Given the description of an element on the screen output the (x, y) to click on. 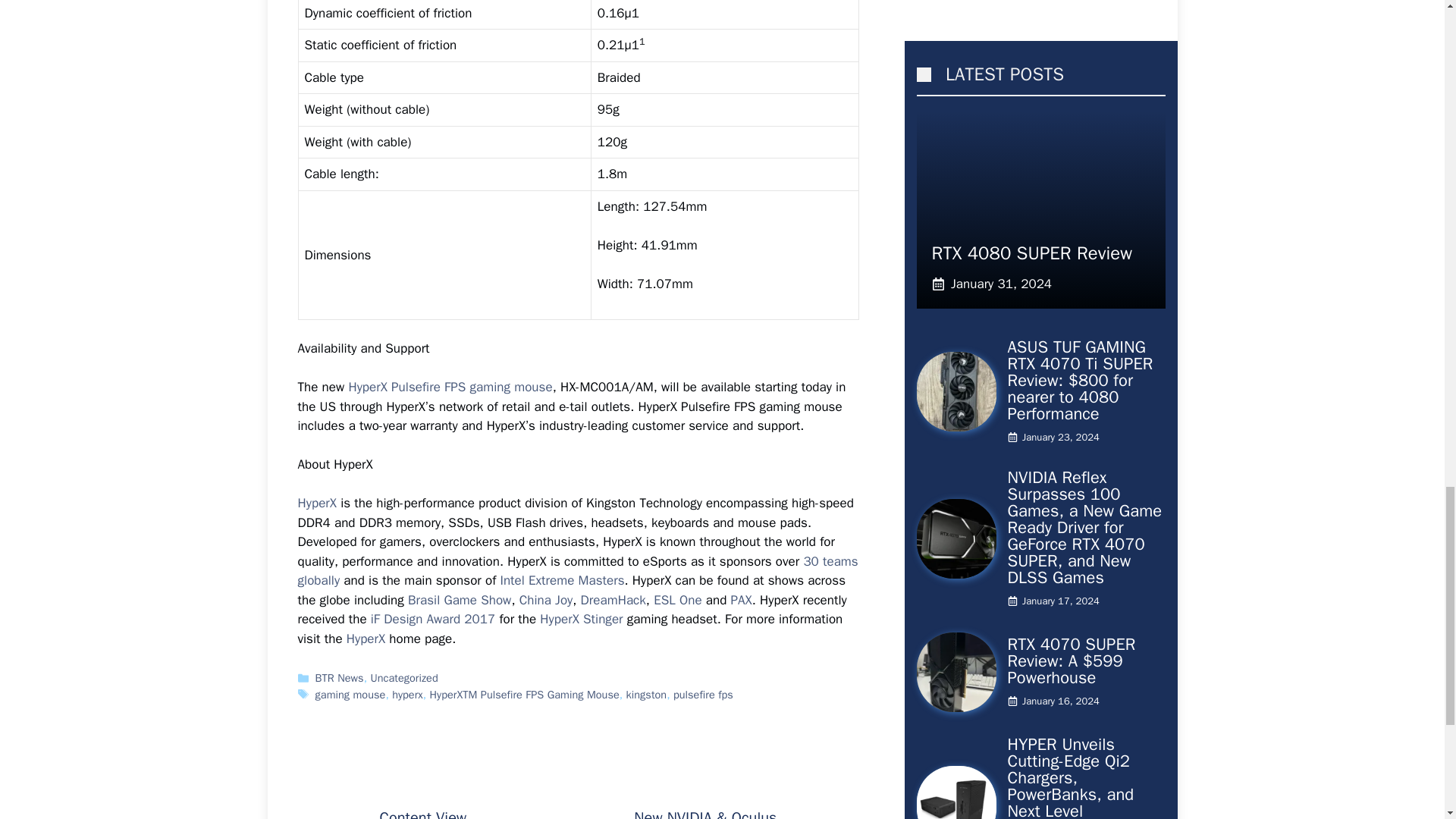
30 teams globally (577, 570)
China Joy (546, 600)
DreamHack (613, 600)
HyperX Pulsefire FPS gaming mouse (449, 386)
Intel Extreme Masters (561, 580)
HyperX (316, 503)
Brasil Game Show (459, 600)
ESL One (677, 600)
